Given the description of an element on the screen output the (x, y) to click on. 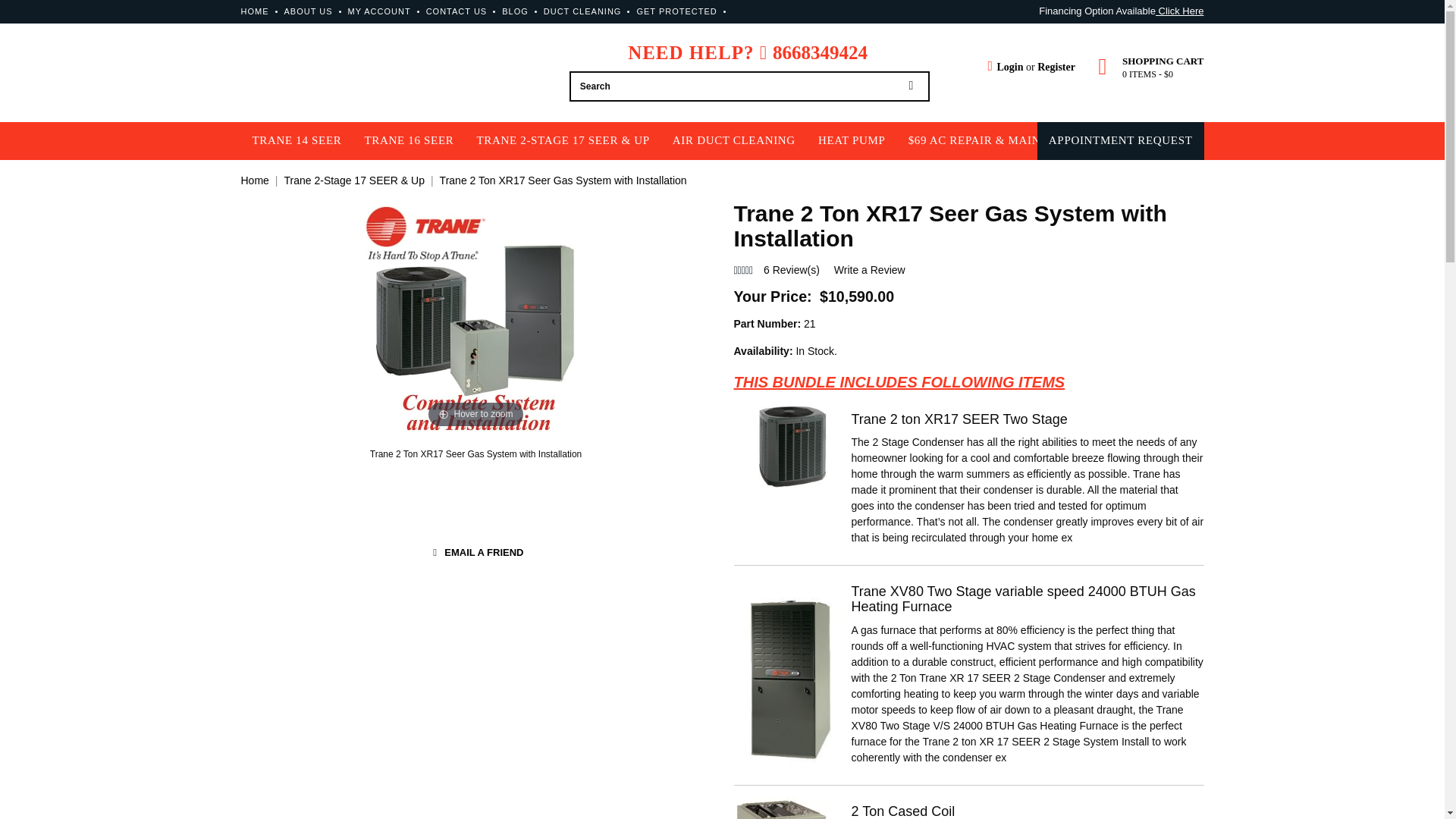
TRANE 14 SEER (297, 140)
DUCT CLEANING (582, 11)
Login (1005, 67)
8668349424 (820, 52)
tranecondnser (792, 446)
GET PROTECTED (676, 11)
Home (255, 180)
CONTACT US (456, 11)
MY ACCOUNT (378, 11)
Hover to zoom (475, 315)
Trane 2 Ton XR17 Seer Gas System with Installation  (476, 453)
BLOG (515, 11)
ABOUT US (307, 11)
HEAT PUMP (851, 140)
APPOINTMENT REQUEST (1120, 140)
